Given the description of an element on the screen output the (x, y) to click on. 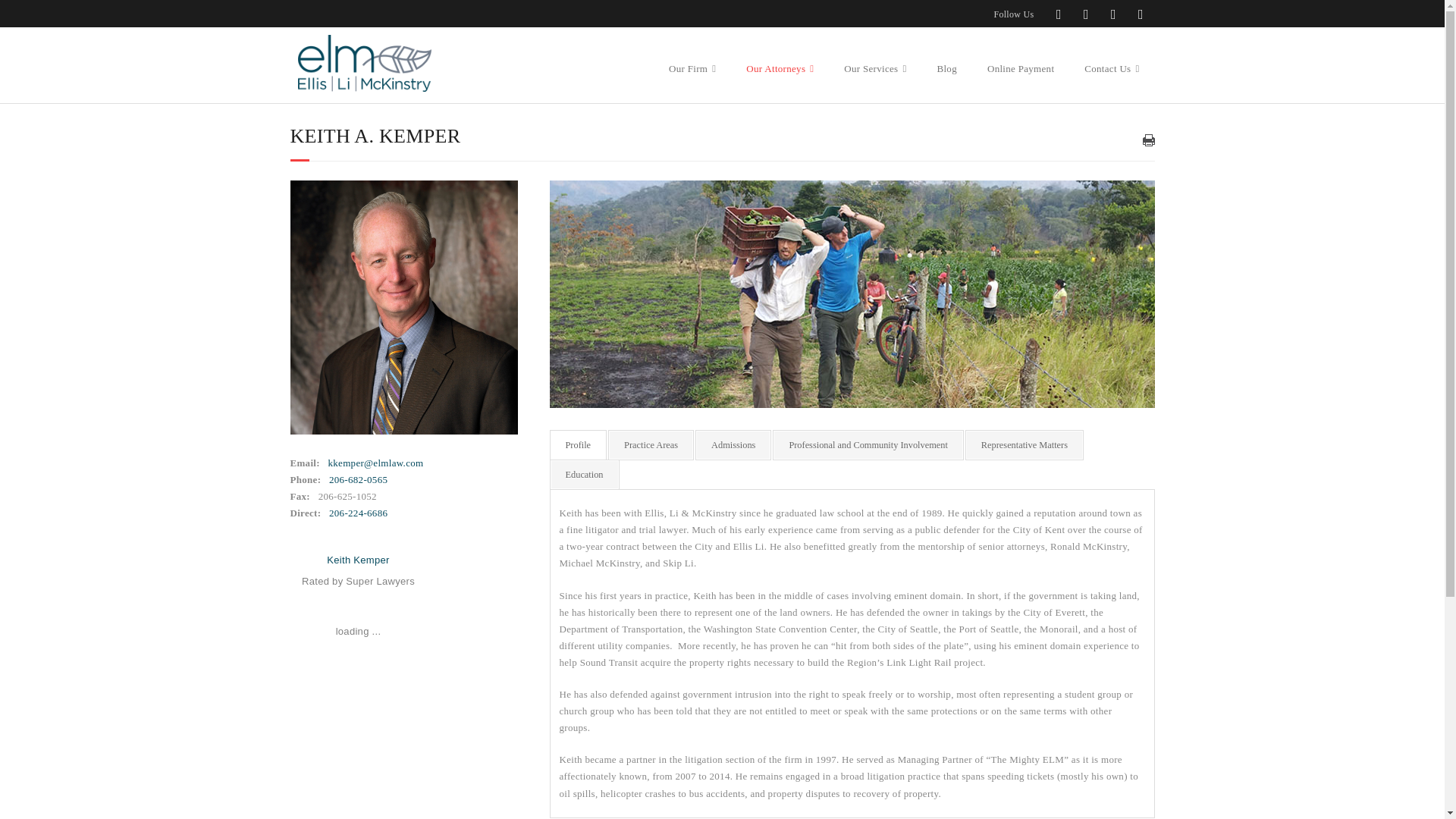
Our Services (874, 55)
Our Attorneys (779, 55)
Our Firm (691, 55)
